Given the description of an element on the screen output the (x, y) to click on. 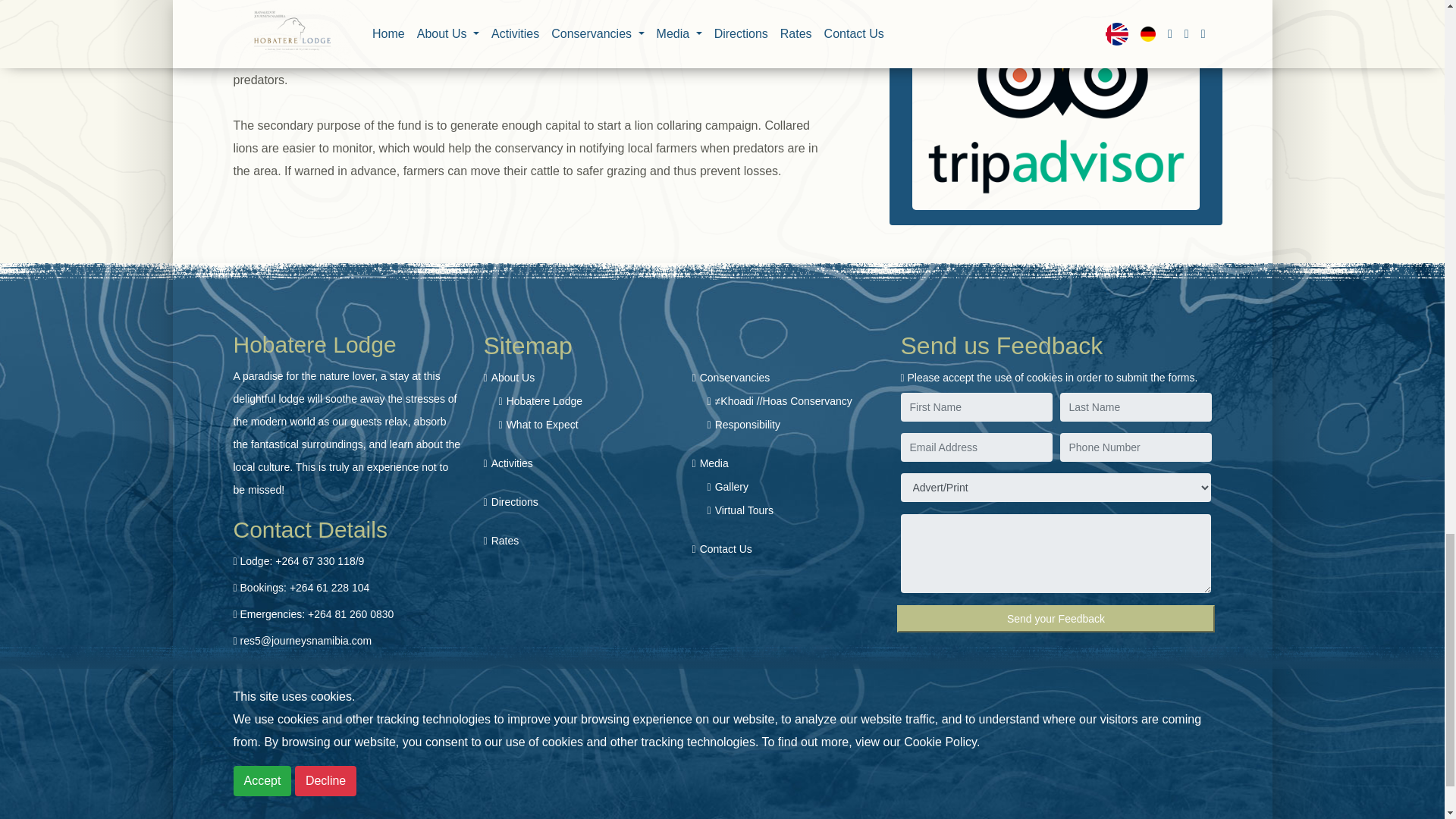
Emergencies (317, 613)
Lodge (302, 561)
Email (306, 640)
Trip Advisor (1055, 104)
Bookings (304, 587)
Physical Address (340, 666)
